Given the description of an element on the screen output the (x, y) to click on. 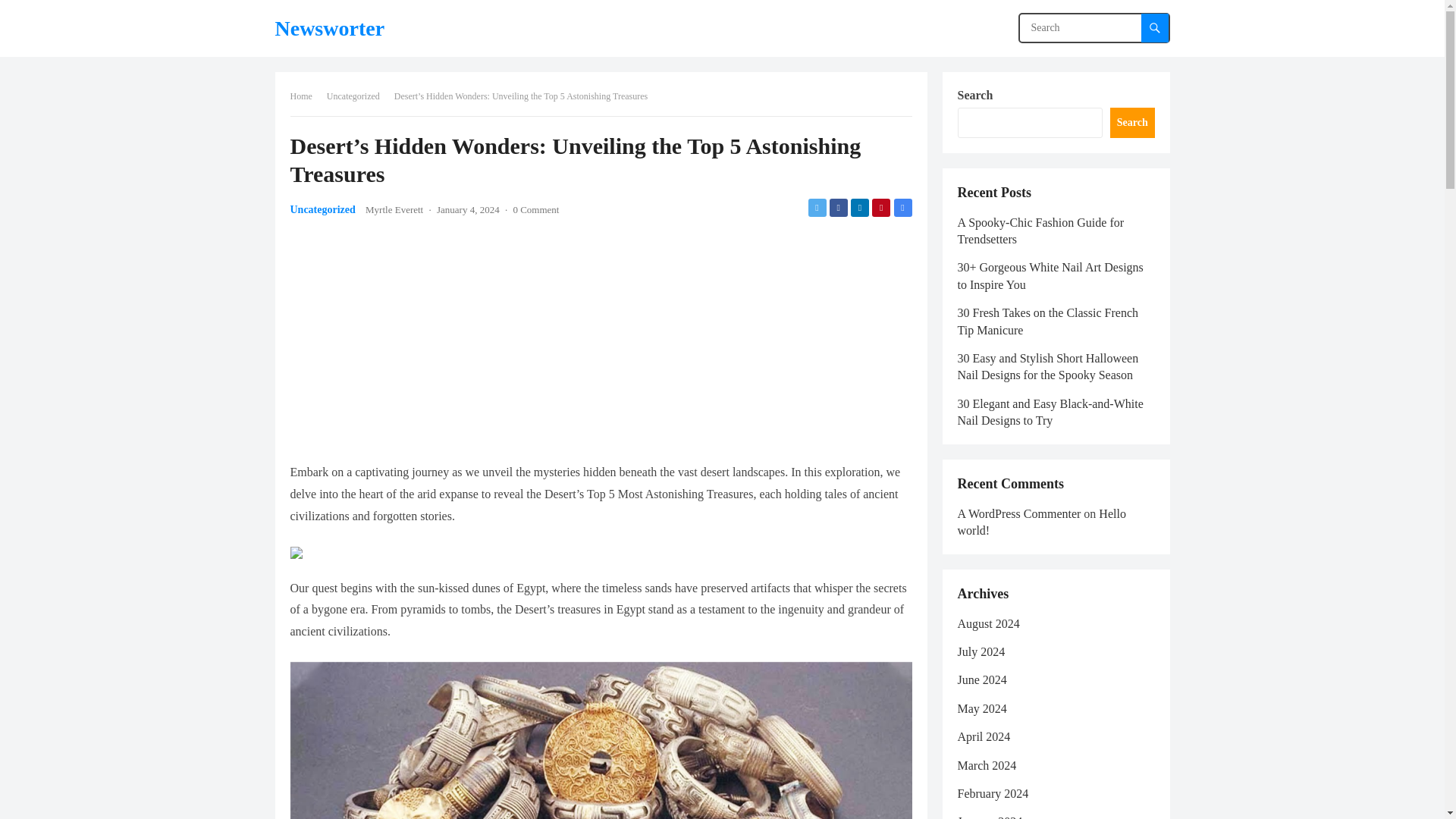
Home (305, 95)
Newsworter (329, 28)
Posts by Myrtle Everett (394, 209)
0 Comment (535, 209)
Uncategorized (358, 95)
Myrtle Everett (394, 209)
Uncategorized (322, 209)
